Given the description of an element on the screen output the (x, y) to click on. 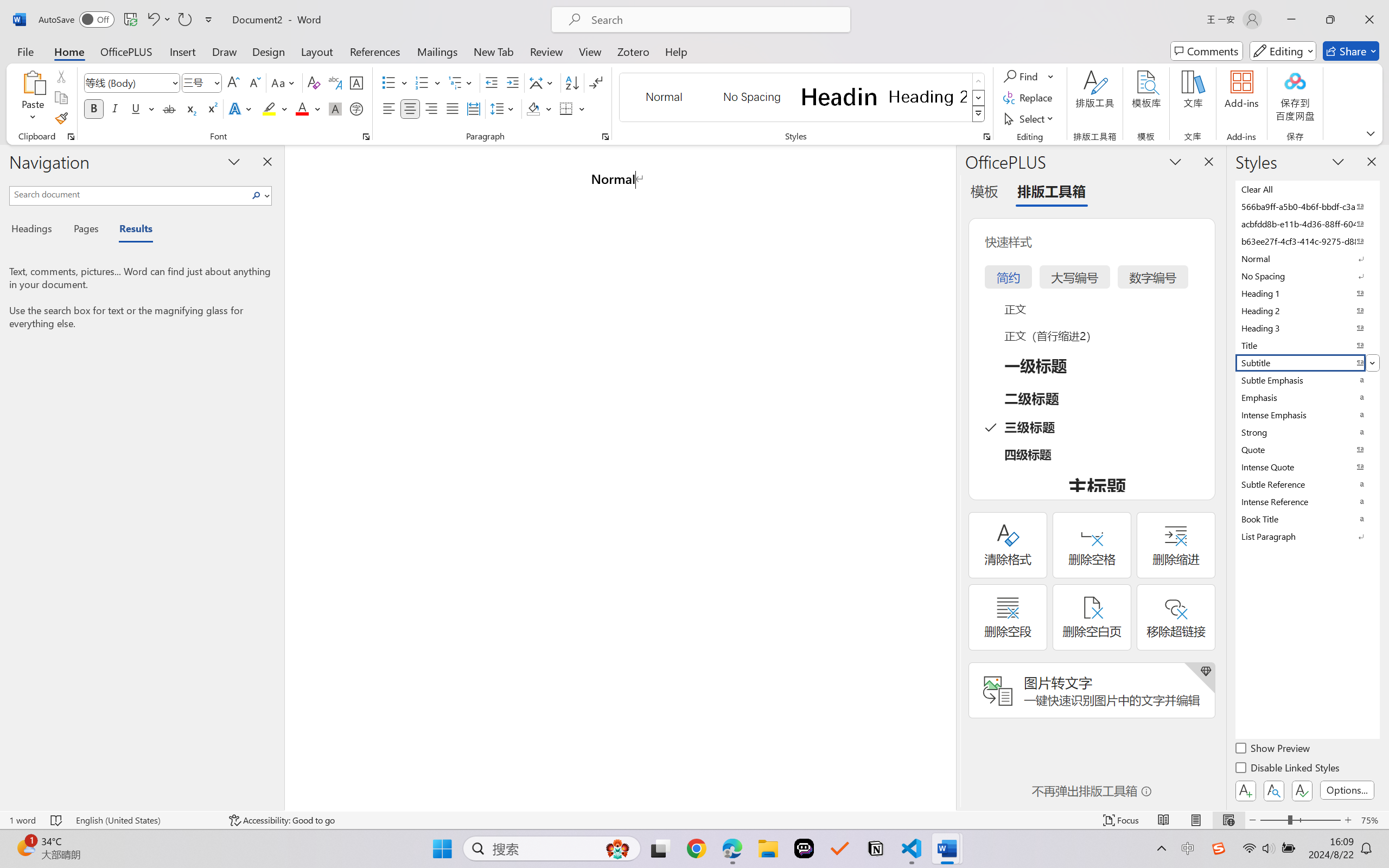
Draw (224, 51)
Numbering (421, 82)
Customize Quick Access Toolbar (208, 19)
Search (259, 195)
Office Clipboard... (70, 136)
Focus  (1121, 819)
Superscript (210, 108)
Row Down (978, 97)
Borders (571, 108)
Bold (94, 108)
Quote (1306, 449)
